Given the description of an element on the screen output the (x, y) to click on. 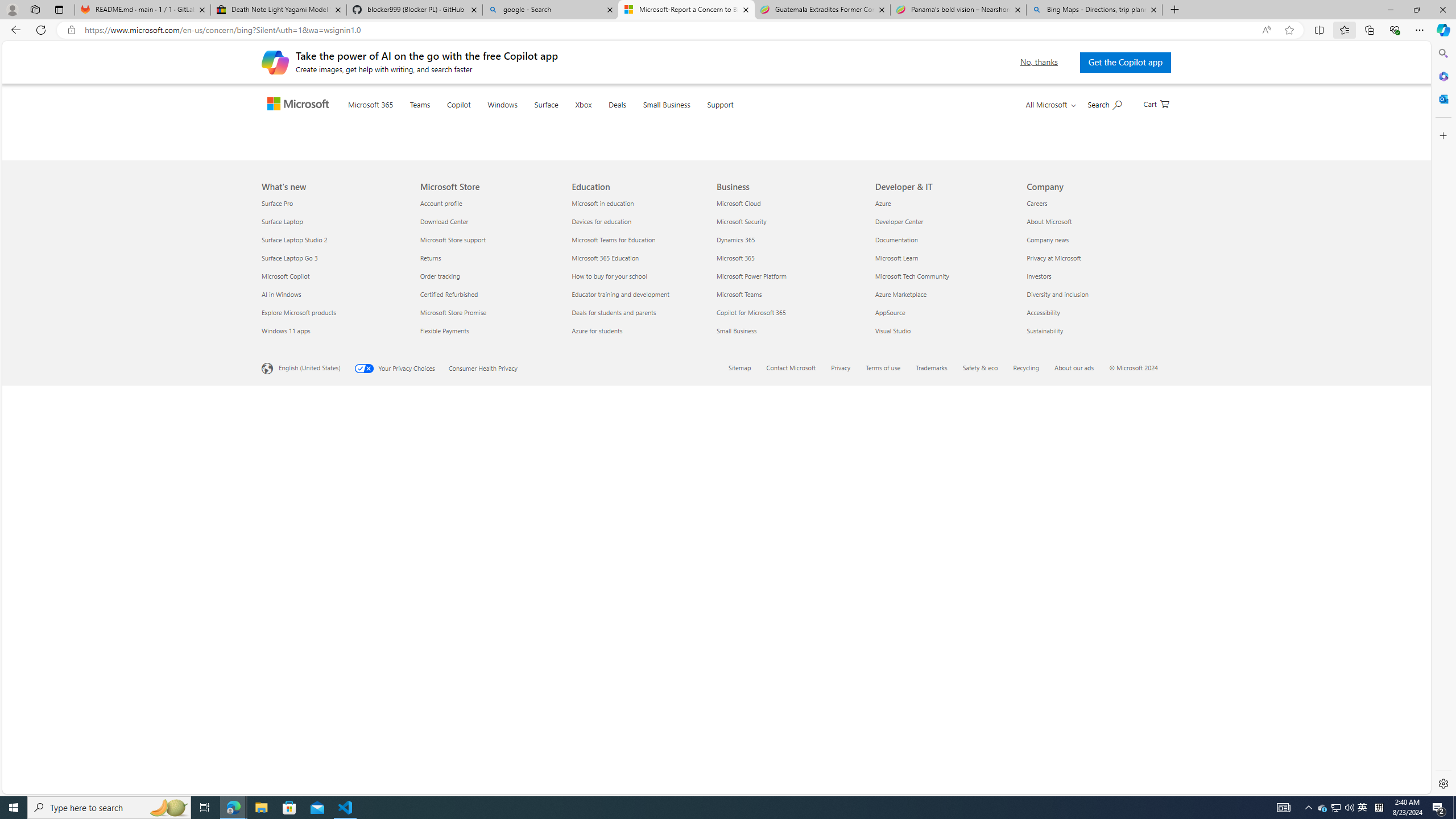
Copilot for Microsoft 365 (788, 712)
Your Privacy Choices Opt-Out Icon (365, 768)
Microsoft 365 Education (641, 657)
Careers Company (1037, 602)
Careers (1095, 603)
Surface Laptop Studio 2 What's new (294, 639)
Dynamics 365 Business (735, 639)
Microsoft 365 Business (735, 657)
Surface Pro (334, 603)
Trademarks (937, 768)
Educator training and development (641, 694)
